Given the description of an element on the screen output the (x, y) to click on. 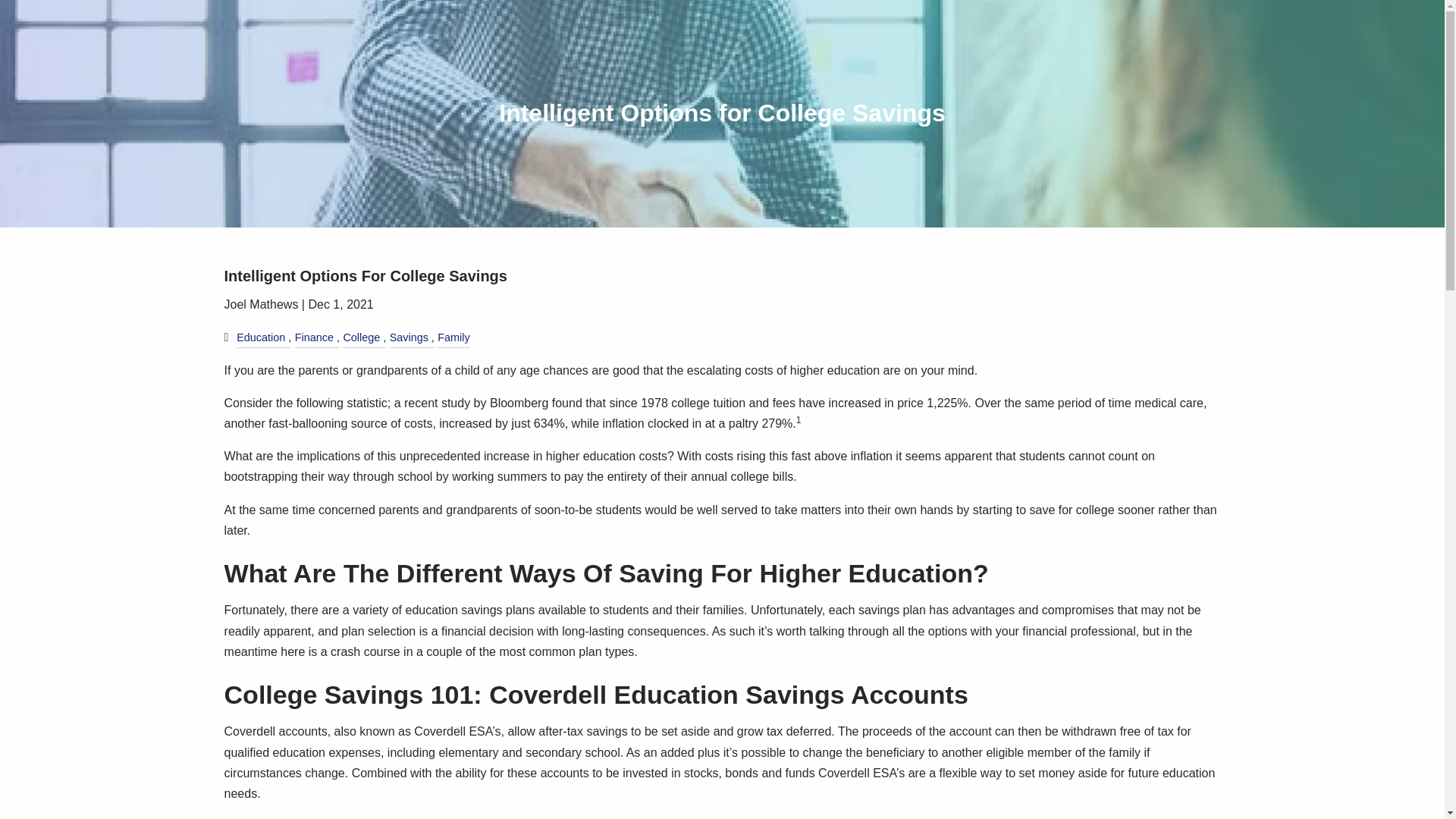
CLIENT CENTER (1163, 137)
Savings (409, 337)
RESOURCES (1130, 58)
Finance (314, 337)
Education (260, 337)
Family (453, 337)
FINANCIAL CALCULATORS (1130, 97)
College (361, 337)
BLOG (1064, 137)
